Given the description of an element on the screen output the (x, y) to click on. 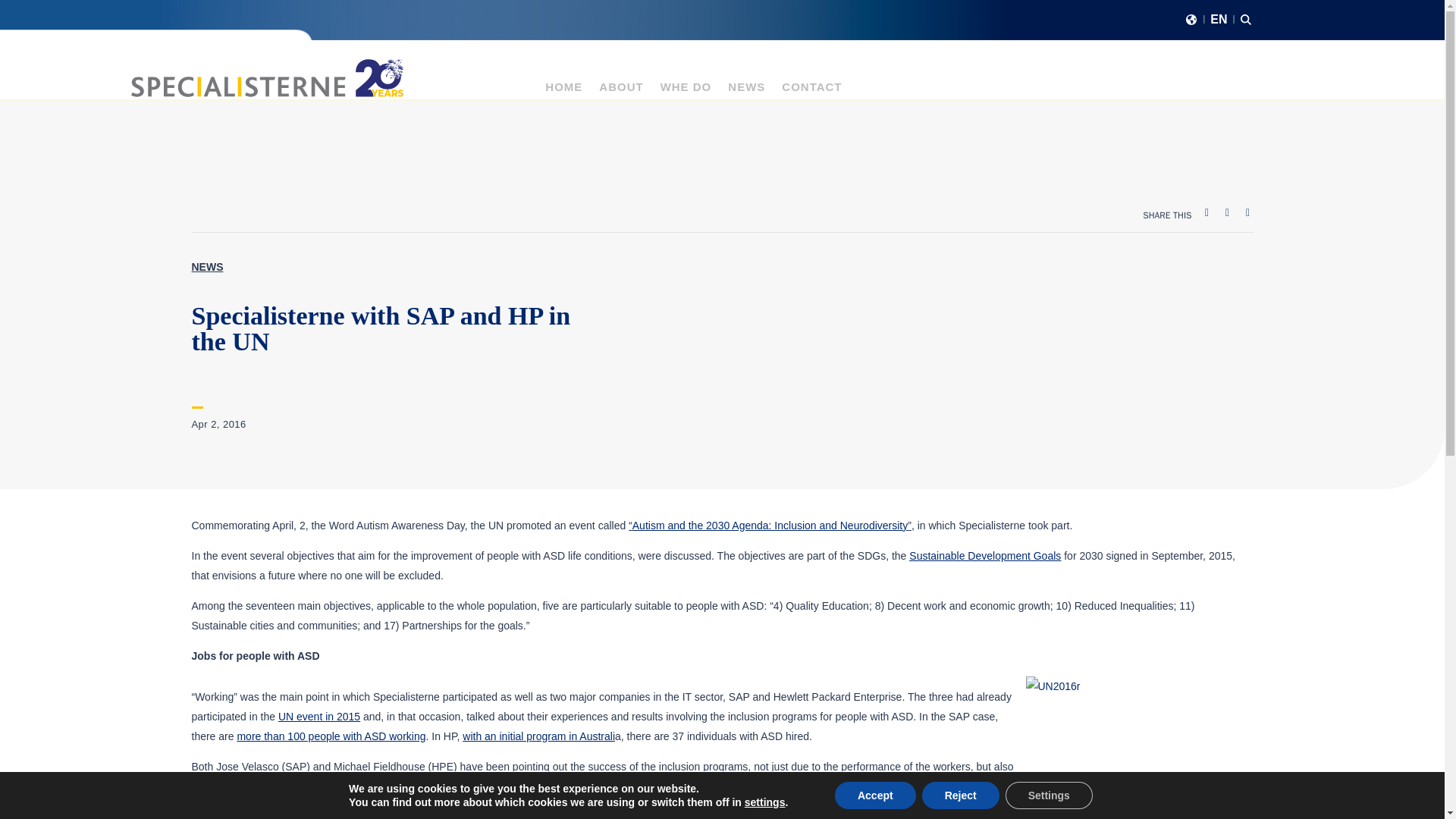
ABOUT (620, 90)
EN (1218, 22)
HOME (563, 90)
sp logo 20th vect (267, 77)
